Given the description of an element on the screen output the (x, y) to click on. 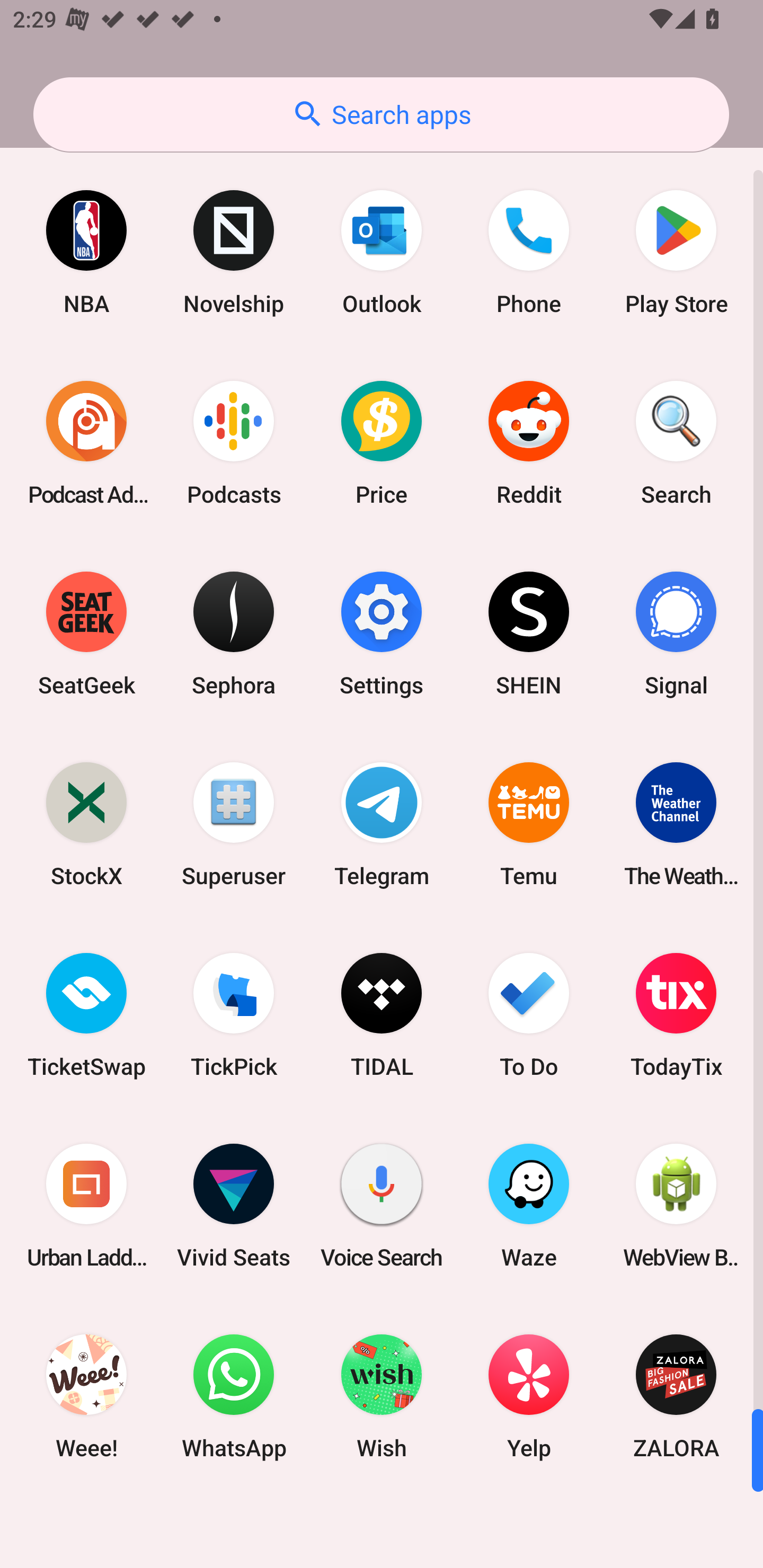
Signal (676, 633)
